Given the description of an element on the screen output the (x, y) to click on. 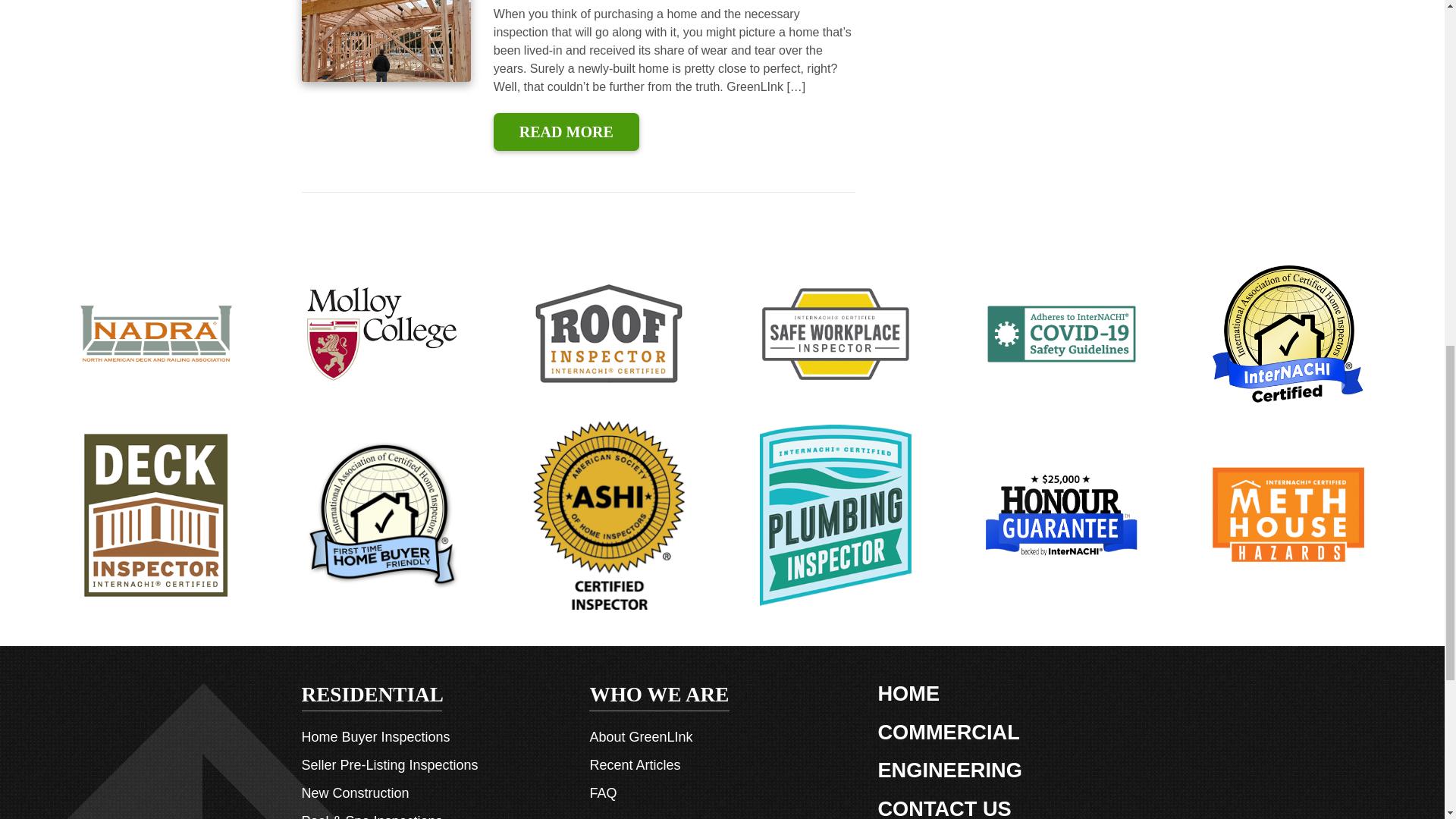
About GreenLInk (641, 737)
Seller Pre-Listing Inspections (390, 765)
New Construction (355, 793)
READ MORE (566, 131)
Home Buyer Inspections (375, 737)
